Given the description of an element on the screen output the (x, y) to click on. 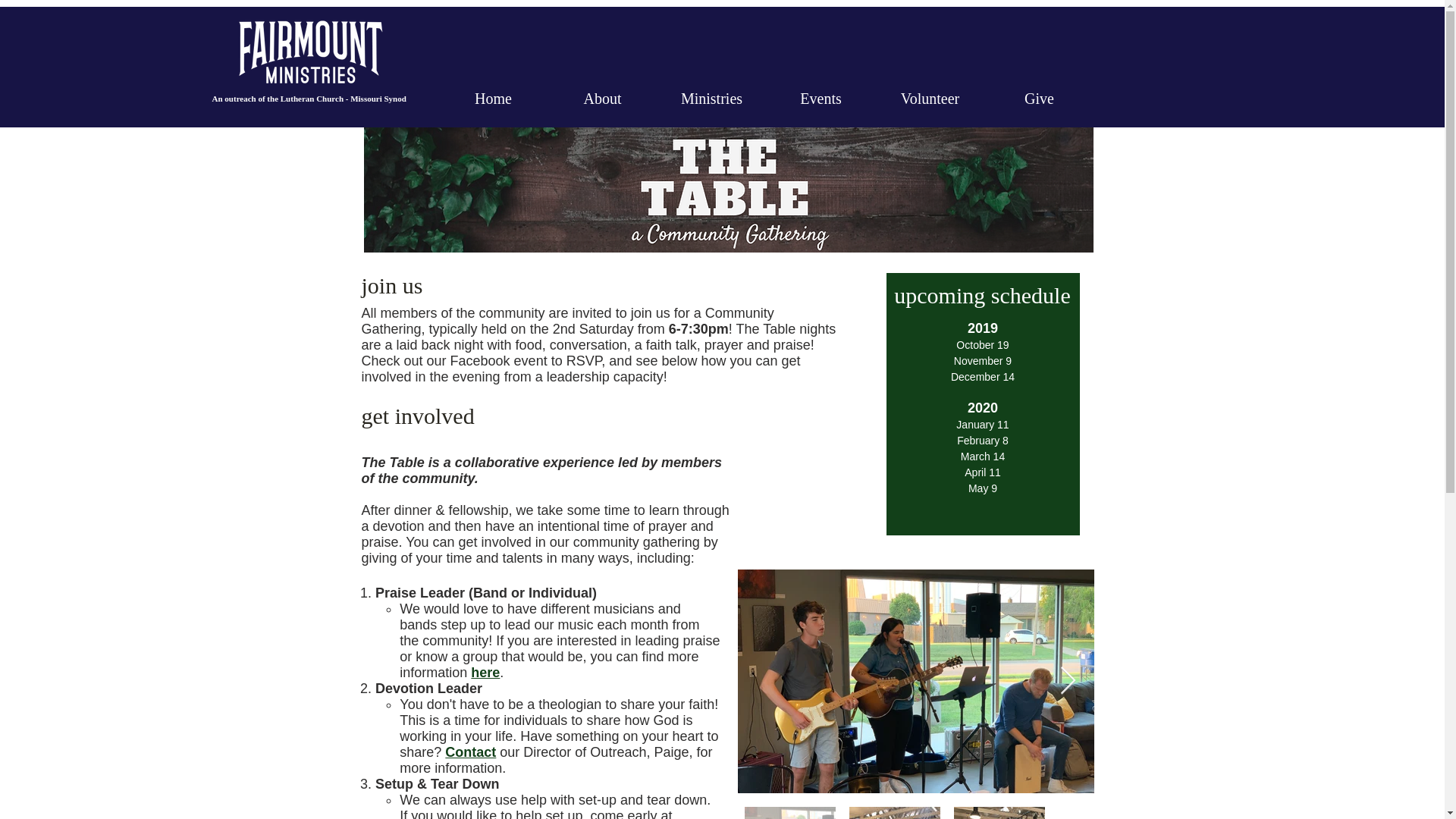
Contact (470, 752)
here (484, 672)
About (601, 95)
Home (492, 95)
Volunteer (929, 95)
Give (1038, 95)
